Given the description of an element on the screen output the (x, y) to click on. 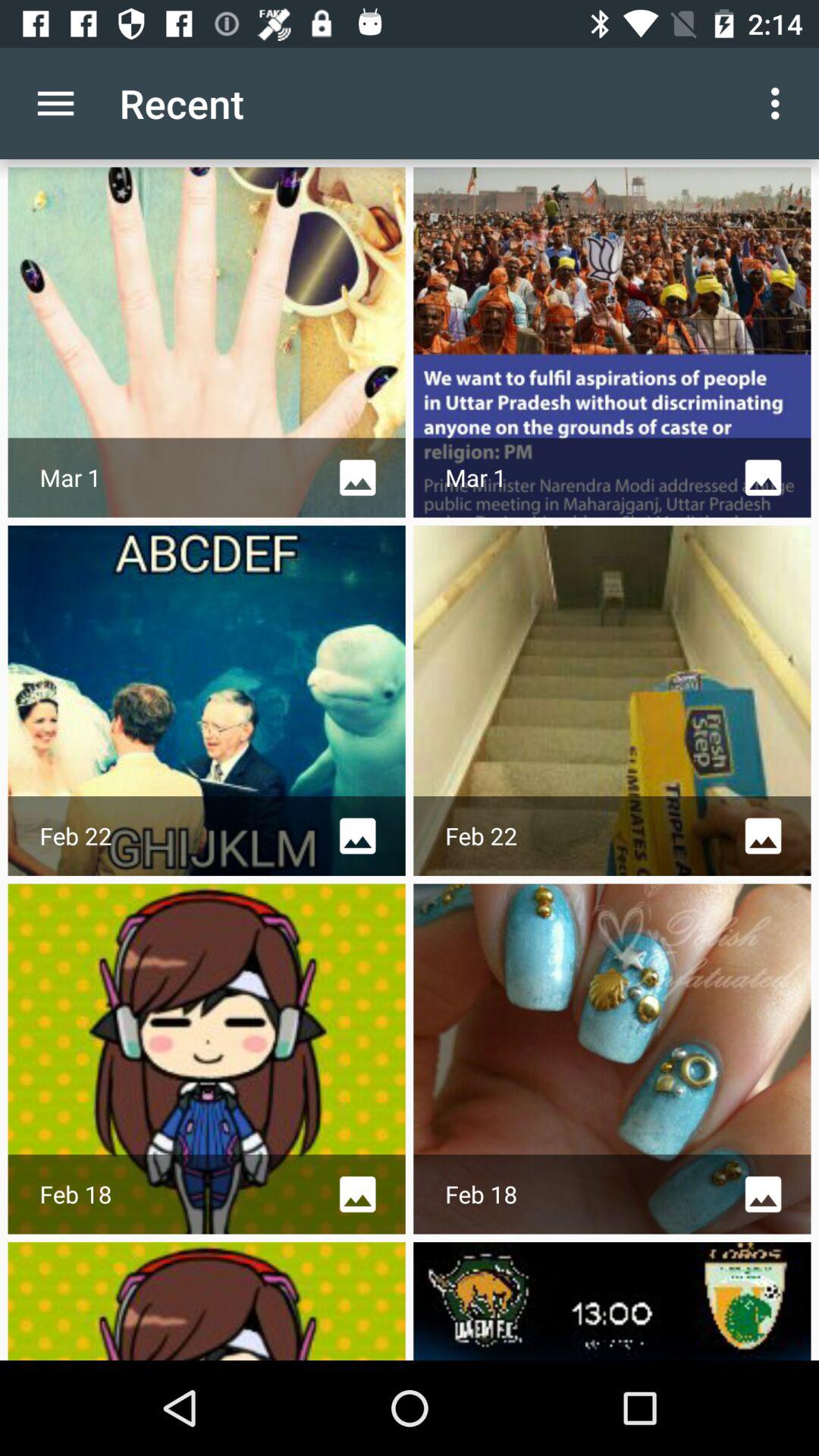
select the item to the left of recent (55, 103)
